Given the description of an element on the screen output the (x, y) to click on. 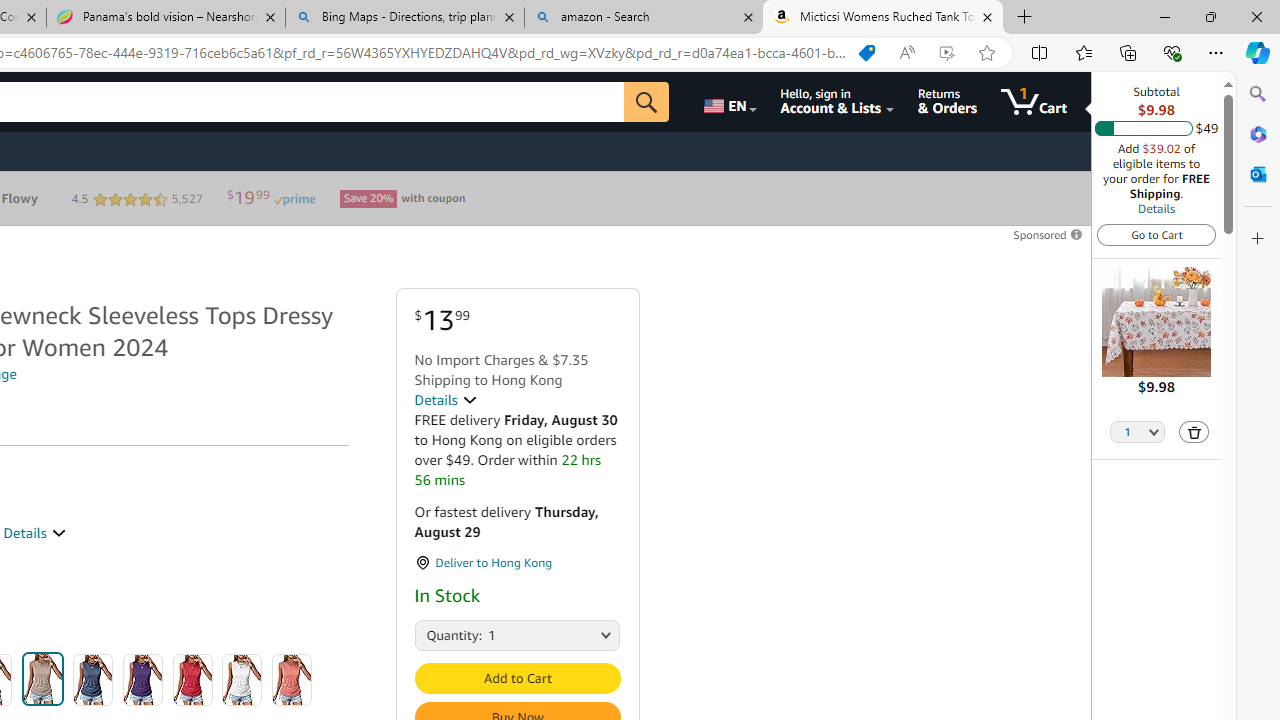
Pink (292, 679)
Quantity Selector (1137, 433)
amazon - Search (643, 17)
Khaki (42, 678)
Red (192, 679)
White (242, 679)
Go to Cart (1156, 234)
